Given the description of an element on the screen output the (x, y) to click on. 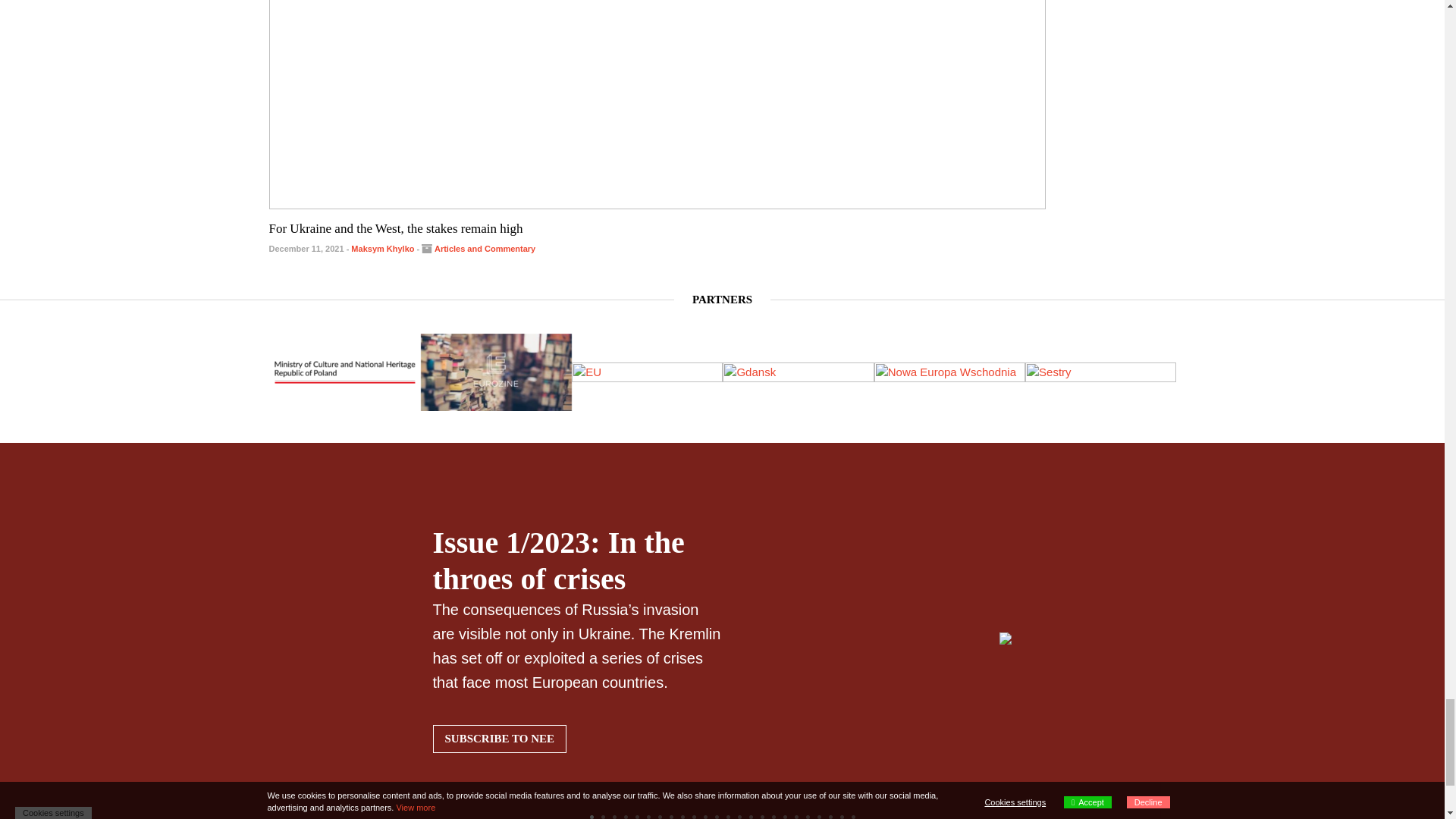
MKiDN (344, 372)
For Ukraine and the West, the stakes remain high (394, 228)
Sestry (193, 372)
